Given the description of an element on the screen output the (x, y) to click on. 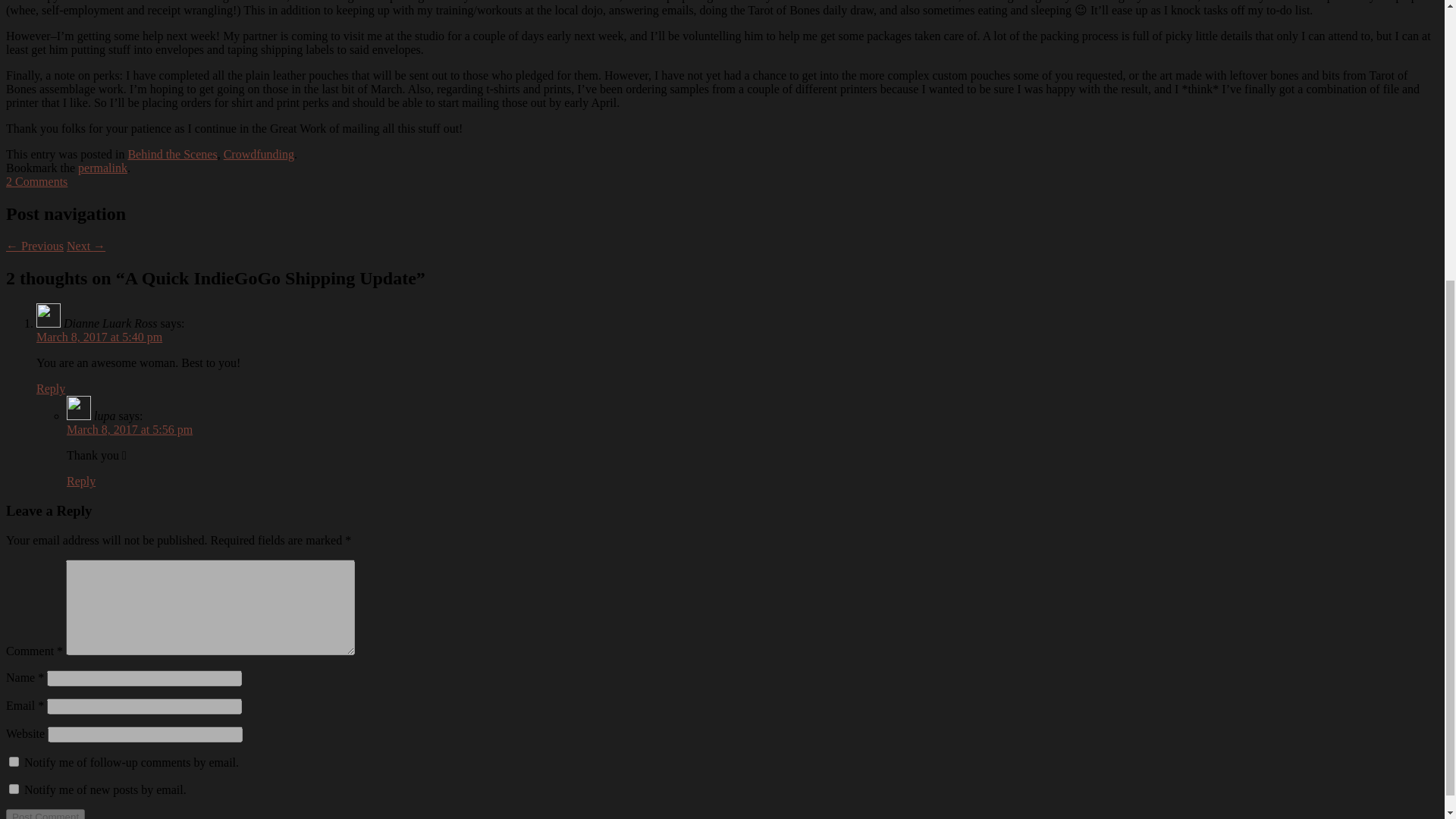
Reply (50, 388)
subscribe (13, 761)
March 8, 2017 at 5:40 pm (98, 336)
Permalink to A Quick IndieGoGo Shipping Update (103, 167)
Behind the Scenes (172, 154)
permalink (103, 167)
Crowdfunding (259, 154)
subscribe (13, 788)
Reply (81, 481)
2 Comments (35, 181)
March 8, 2017 at 5:56 pm (129, 429)
